Given the description of an element on the screen output the (x, y) to click on. 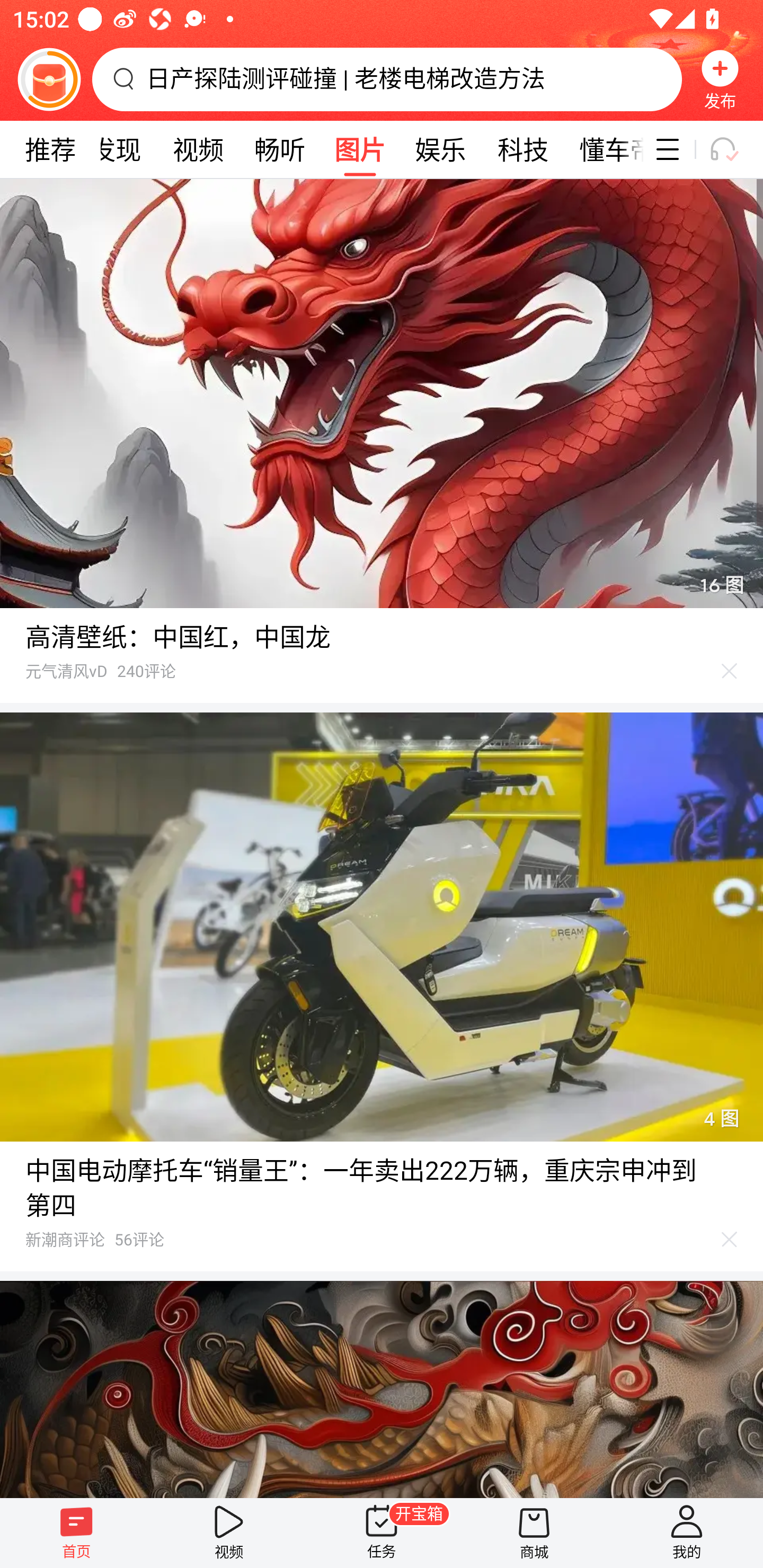
阅读赚金币 (48, 79)
日产探陆测评碰撞 | 老楼电梯改造方法 搜索框，日产探陆测评碰撞 | 老楼电梯改造方法 (387, 79)
发布 发布，按钮 (720, 78)
推荐 (49, 149)
发现 (115, 149)
视频 (198, 149)
畅听 (279, 149)
图片 (359, 149)
娱乐 (440, 149)
科技 (522, 149)
懂车帝 (603, 149)
听一听开关 (732, 149)
不感兴趣 (729, 670)
不感兴趣 (729, 1239)
首页 (76, 1532)
视频 (228, 1532)
任务 开宝箱 (381, 1532)
商城 (533, 1532)
我的 (686, 1532)
